Given the description of an element on the screen output the (x, y) to click on. 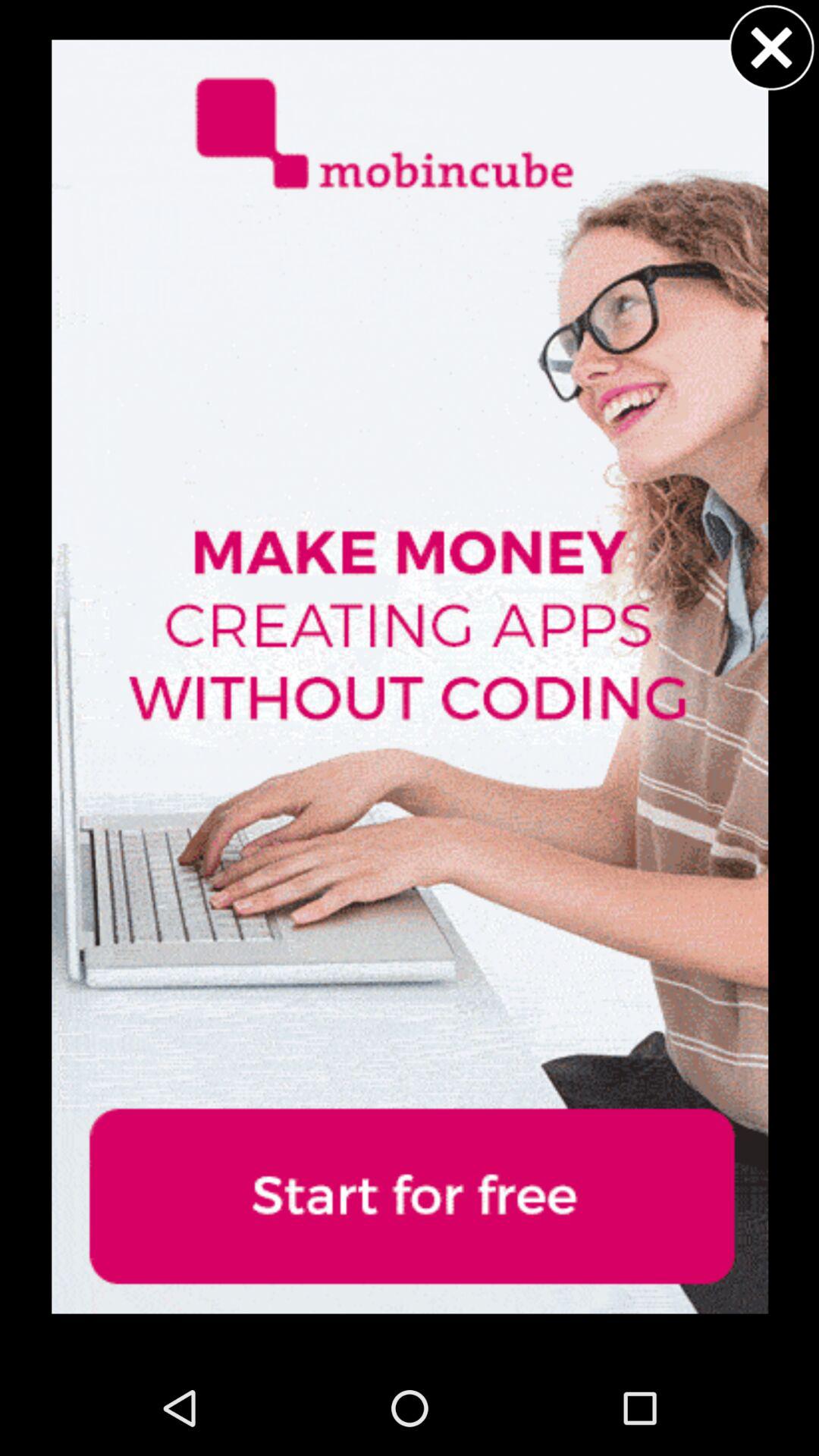
close button (771, 47)
